Given the description of an element on the screen output the (x, y) to click on. 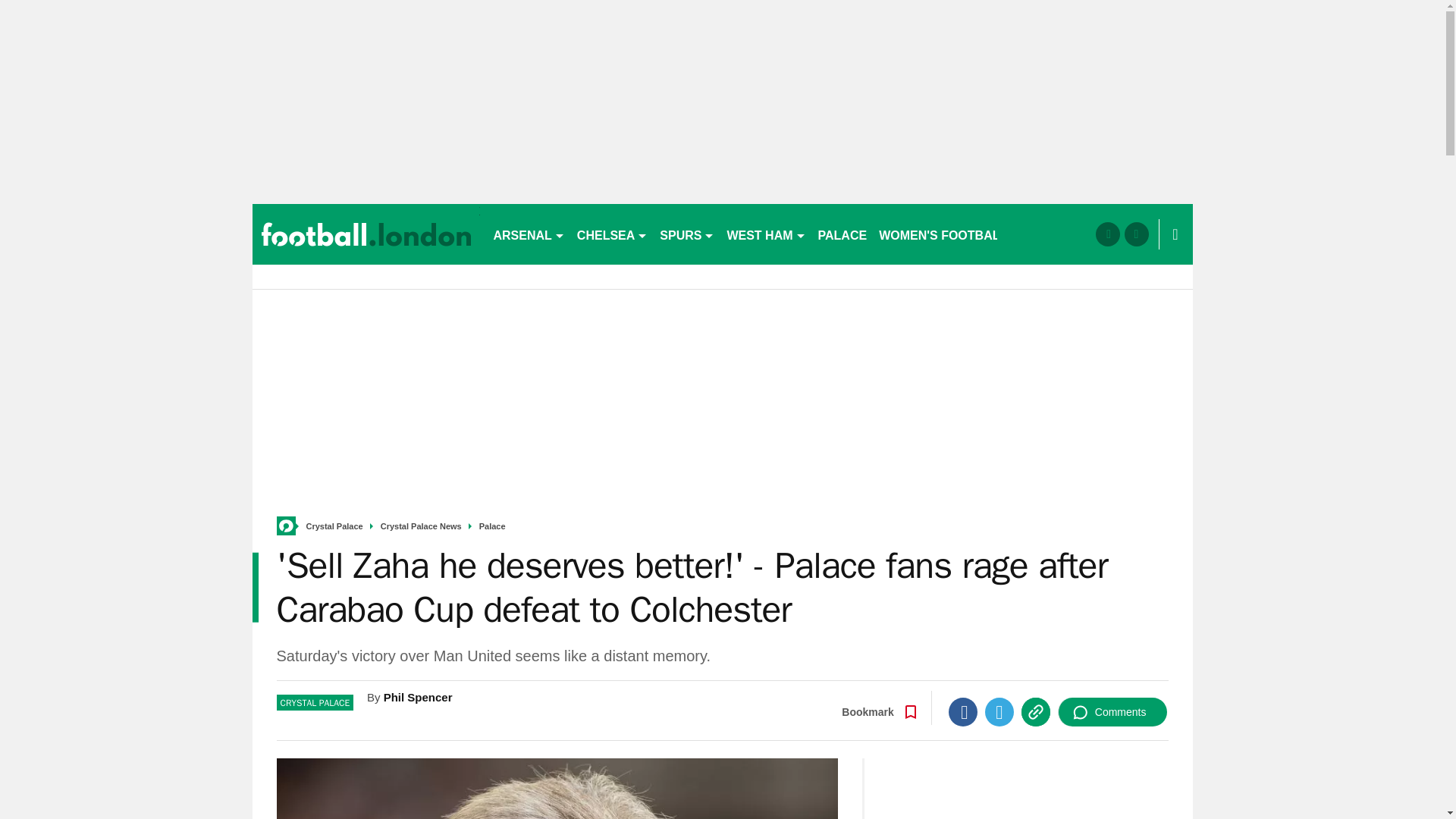
Comments (1112, 711)
SPURS (686, 233)
CHELSEA (611, 233)
WOMEN'S FOOTBALL (942, 233)
ARSENAL (528, 233)
twitter (1136, 233)
WEST HAM (765, 233)
facebook (1106, 233)
footballlondon (365, 233)
Facebook (962, 711)
